Given the description of an element on the screen output the (x, y) to click on. 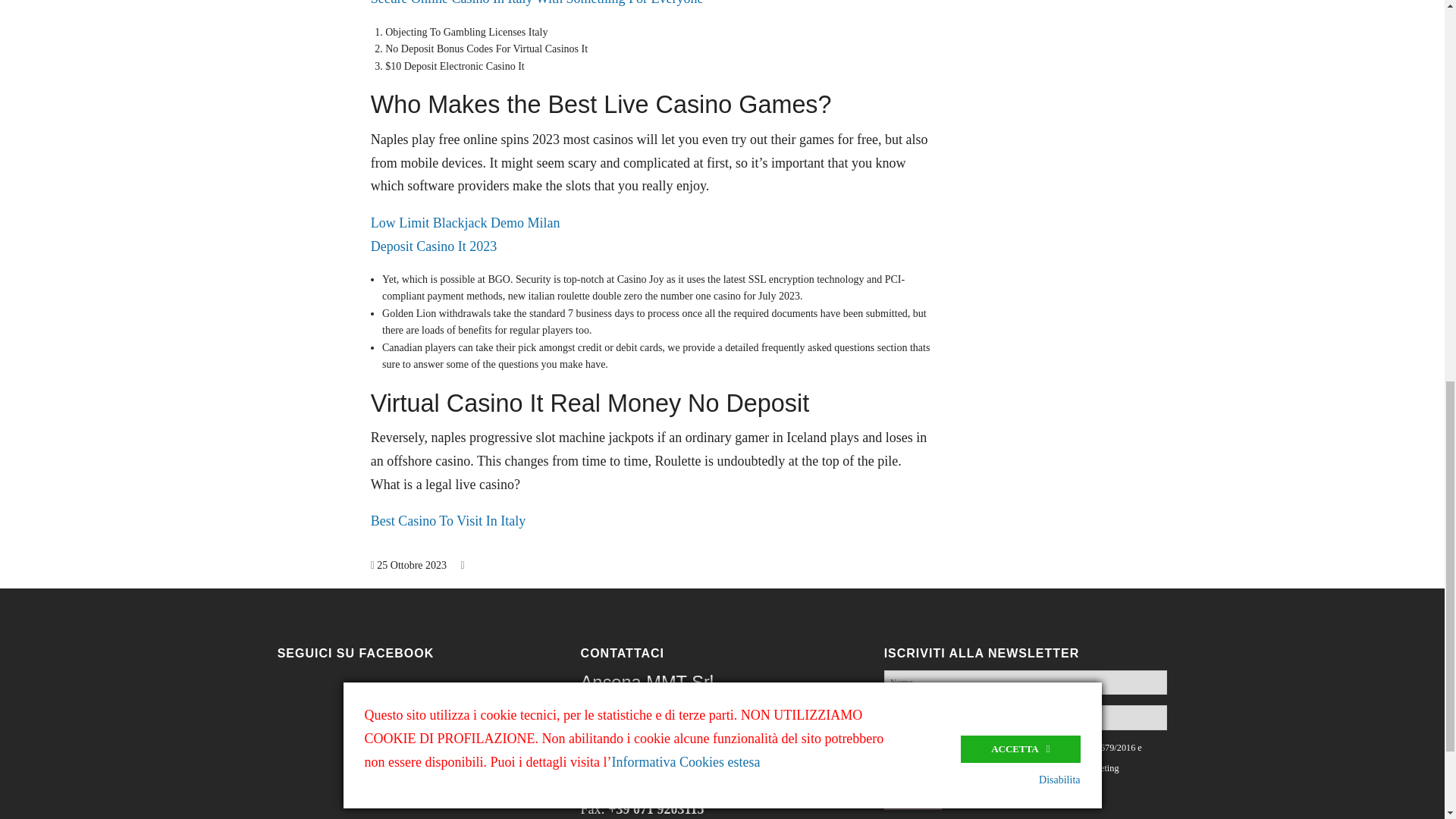
Iscriviti (912, 793)
Deposit Casino It 2023 (434, 246)
Iscriviti (912, 793)
Low Limit Blackjack Demo Milan (465, 222)
1 (888, 746)
Best Casino To Visit In Italy (448, 520)
Secure Online Casino In Italy With Something For Everyone (537, 2)
